Given the description of an element on the screen output the (x, y) to click on. 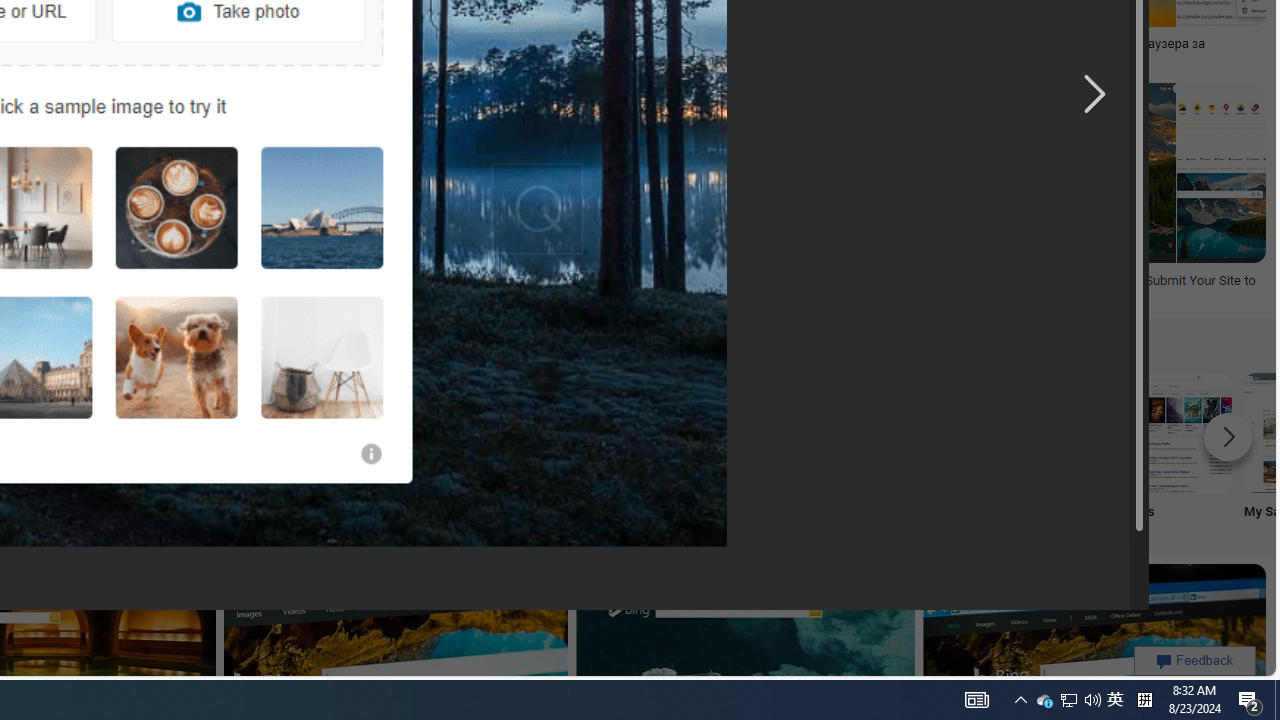
Bing Random Search (116, 432)
Scroll more suggestions right (1227, 436)
Bing Search Bar Install (380, 432)
App (511, 450)
Bing Movies Search Movies (1171, 450)
Bing Search Bar Install Bar Install (380, 450)
New Bing Image Search (775, 432)
Image result for Bing Search Site (1221, 217)
Bing Search Settings Settings (907, 450)
Movies (1171, 450)
Web Searching | Computer Applications for ManagersSave (220, 196)
